Given the description of an element on the screen output the (x, y) to click on. 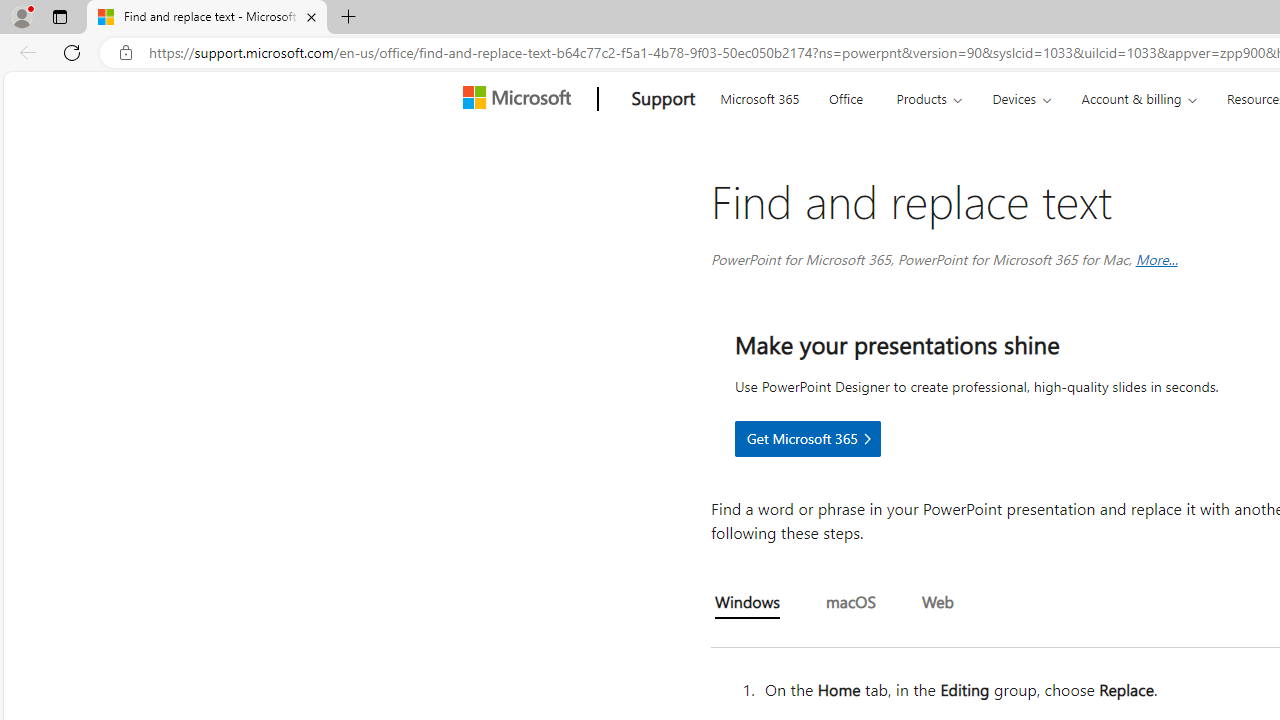
Support (663, 99)
Tab actions menu (59, 16)
macOS (850, 603)
View site information (125, 53)
Make your presentations shine Get Microsoft 365 (807, 438)
Web (937, 603)
Office (845, 96)
